Given the description of an element on the screen output the (x, y) to click on. 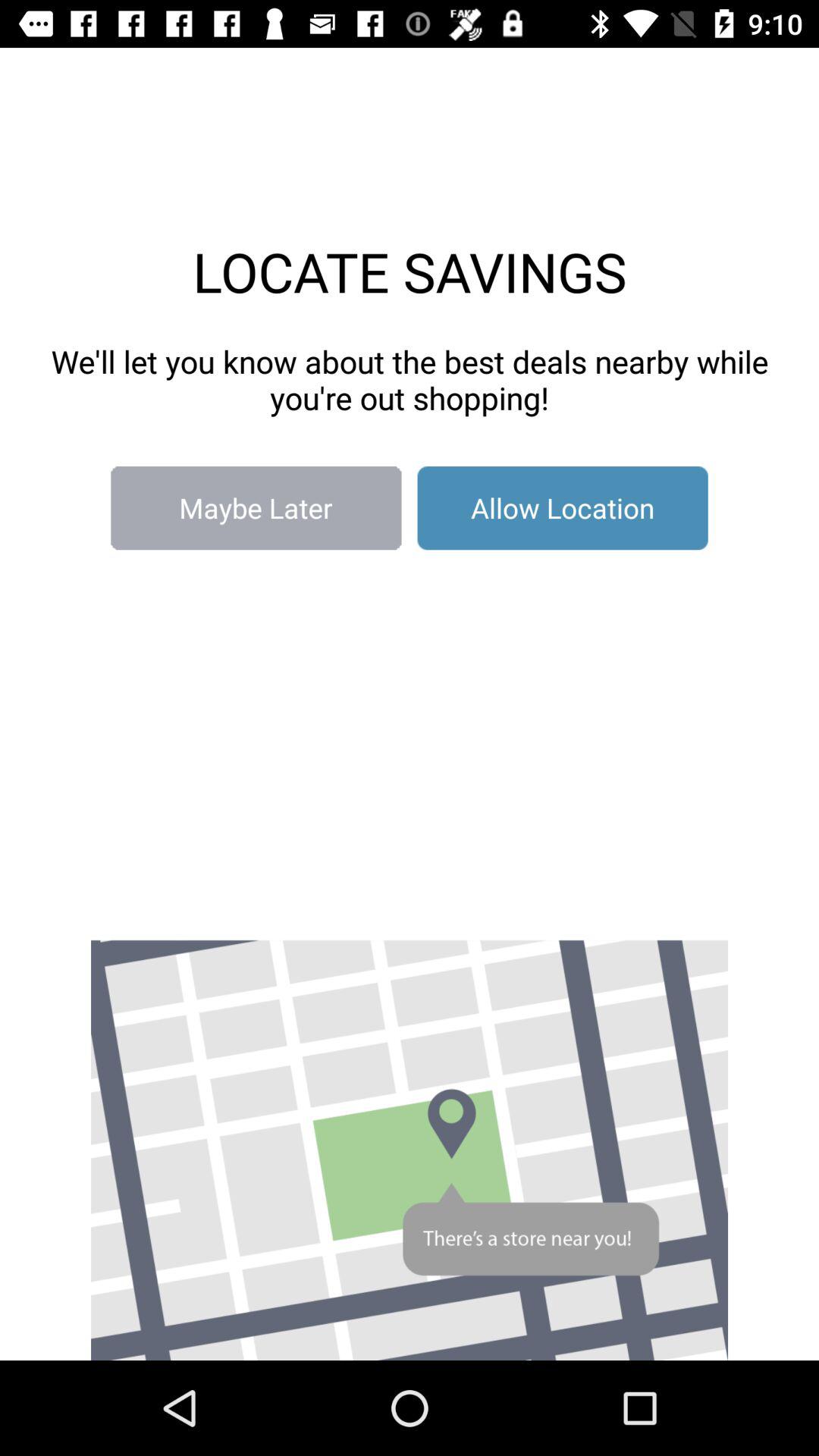
open icon to the right of maybe later (562, 507)
